Given the description of an element on the screen output the (x, y) to click on. 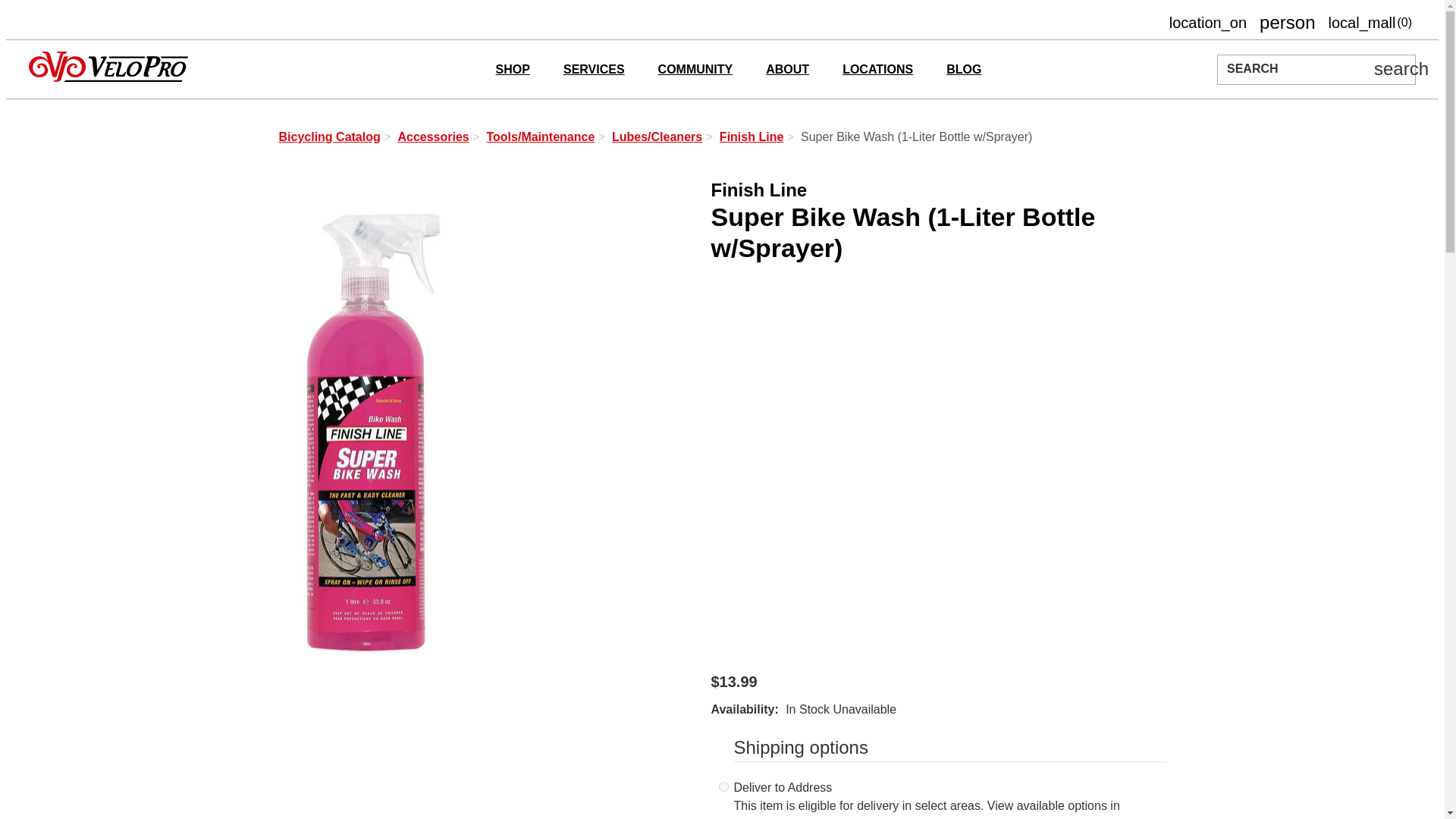
on (724, 786)
Velo Pro Cyclery Home Page (108, 68)
Cart (1286, 22)
Skip to main content (1207, 22)
Stores (1369, 22)
SHOP (1207, 22)
Search (1401, 67)
Account (512, 69)
